Given the description of an element on the screen output the (x, y) to click on. 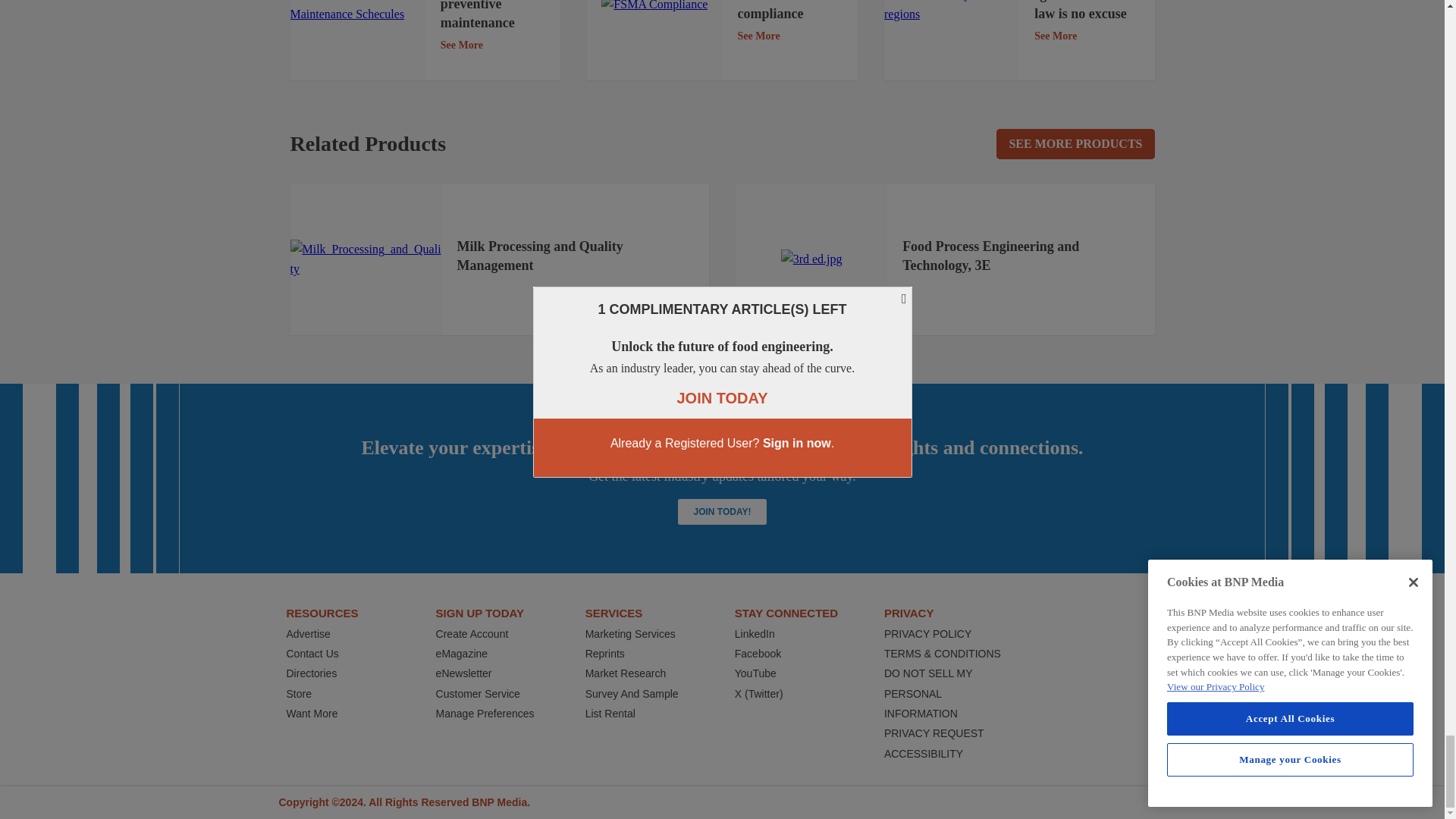
Produce Safety Network regions (951, 12)
3rd ed.jpg (811, 259)
FSMA Compliance (654, 7)
eMaint Planned Maintenance Schecules (357, 12)
